Given the description of an element on the screen output the (x, y) to click on. 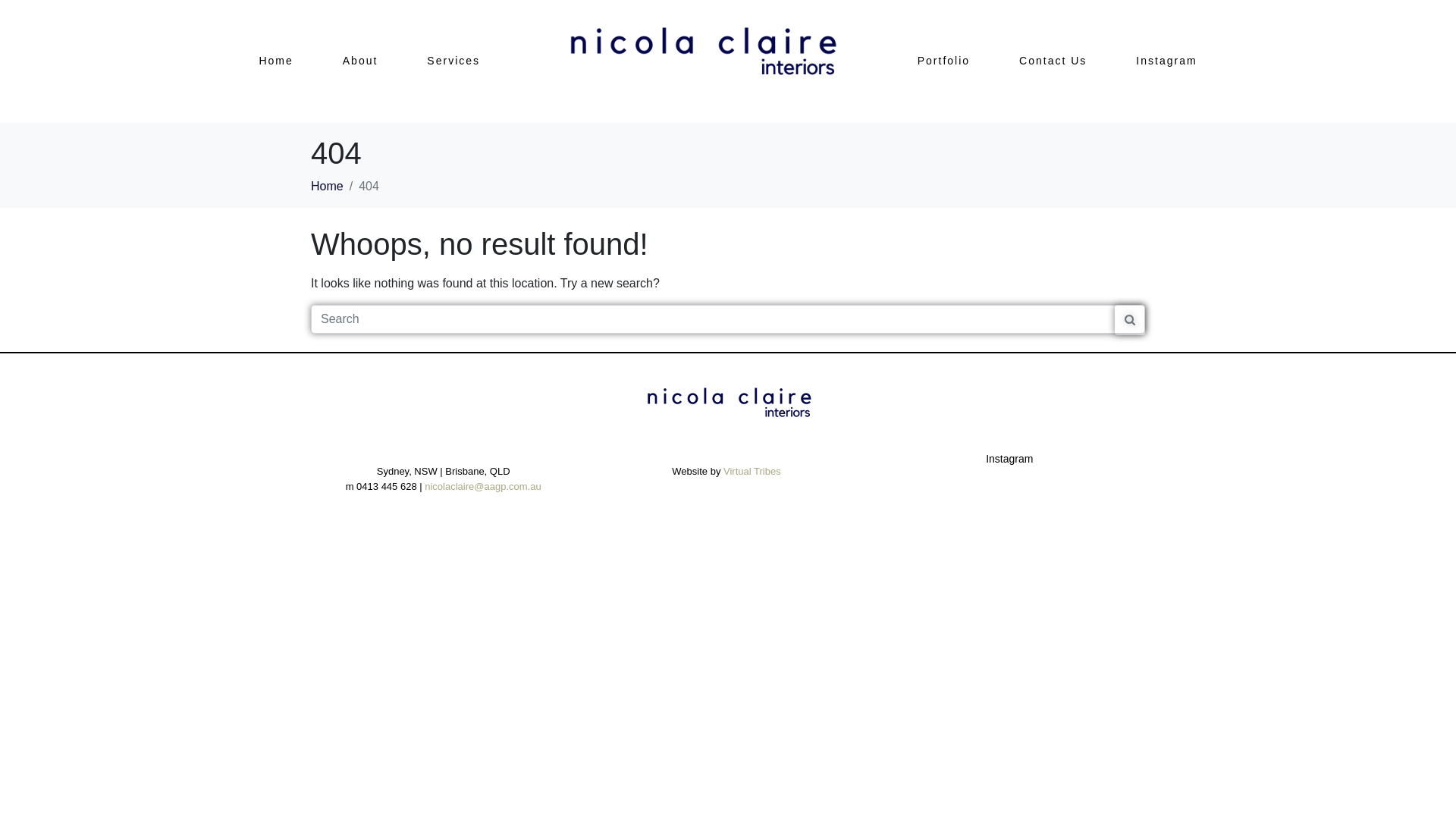
Portfolio Element type: text (943, 61)
Virtual Tribes Element type: text (752, 470)
About Element type: text (360, 61)
Instagram Element type: text (1008, 458)
nicolaclaire@aagp.com.au Element type: text (482, 486)
Home Element type: text (275, 61)
Services Element type: text (453, 61)
Instagram Element type: text (1165, 61)
Home Element type: text (326, 185)
Contact Us Element type: text (1052, 61)
